Given the description of an element on the screen output the (x, y) to click on. 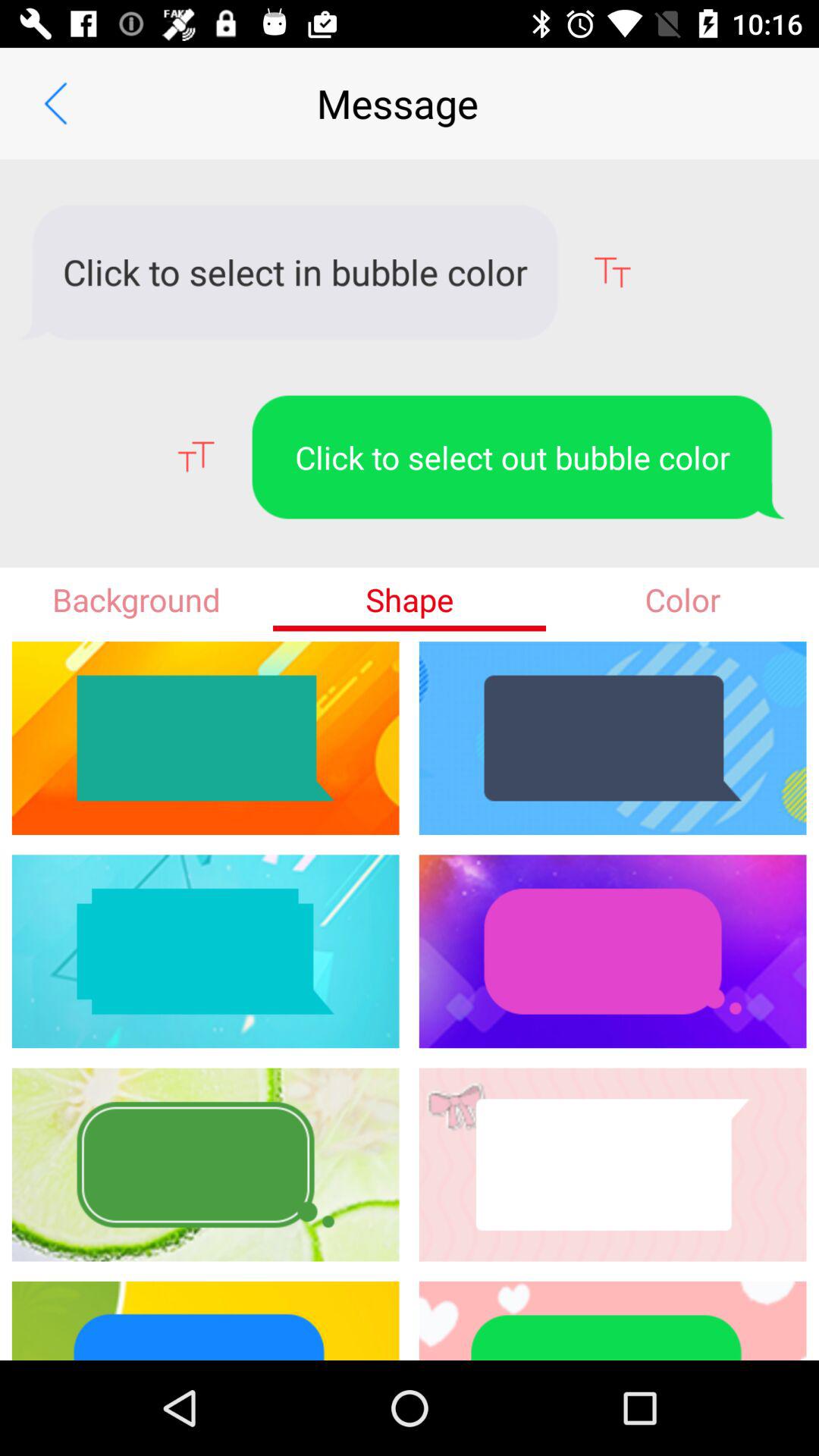
tap the item to the left of message (55, 103)
